Given the description of an element on the screen output the (x, y) to click on. 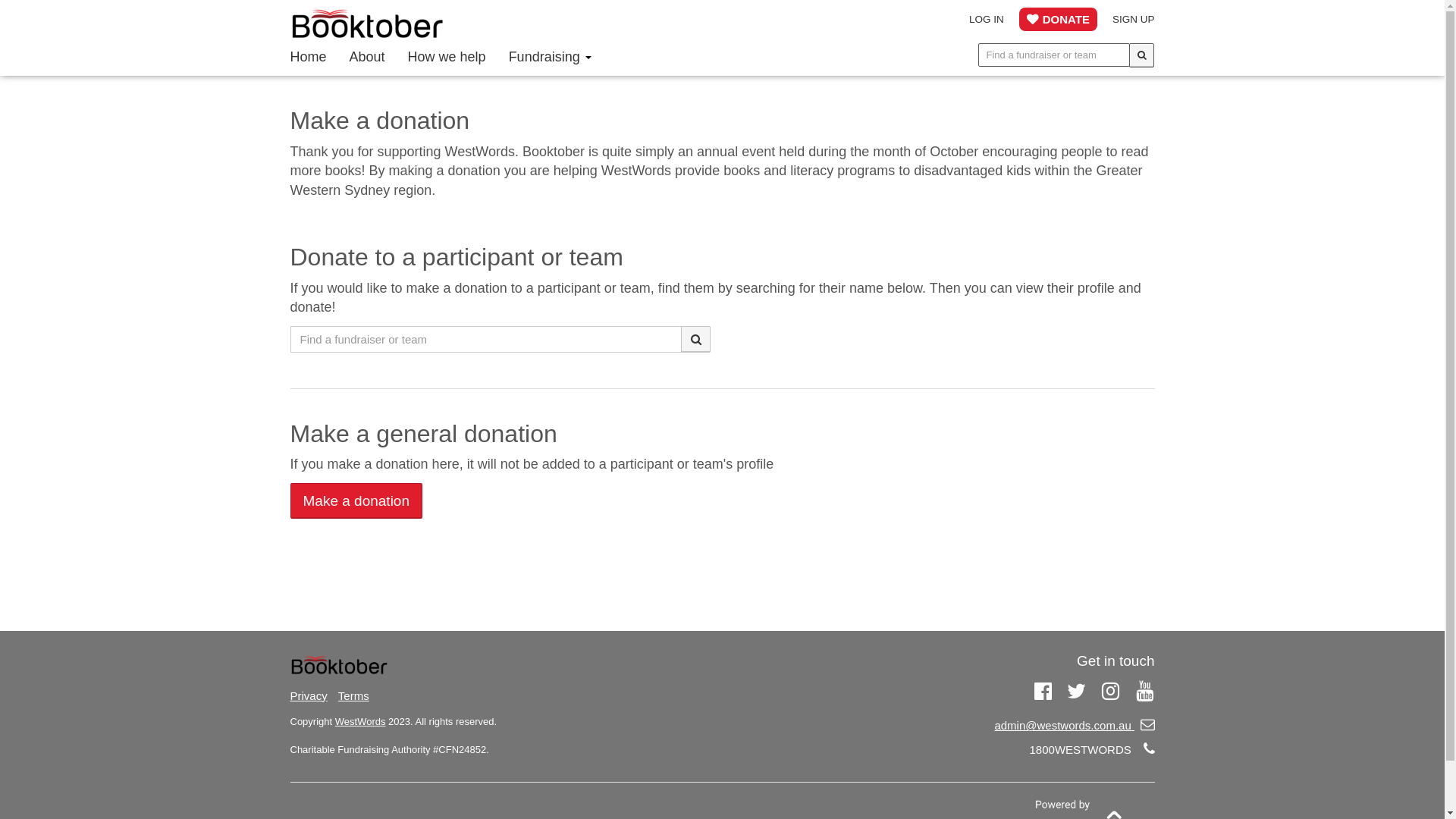
admin@westwords.com.au Element type: text (1074, 724)
LOG IN Element type: text (986, 18)
Twitter Element type: text (1076, 689)
SIGN UP Element type: text (1133, 18)
Terms Element type: text (353, 695)
How we help Element type: text (446, 56)
Instagram Element type: text (1110, 689)
Make a donation Element type: text (355, 500)
Facebook Element type: text (1042, 689)
About Element type: text (367, 56)
Home Element type: text (308, 56)
Youtube Element type: text (1144, 689)
WestWords Element type: text (360, 721)
Privacy Element type: text (307, 695)
Fundraising Element type: text (549, 56)
DONATE Element type: text (1058, 19)
